Given the description of an element on the screen output the (x, y) to click on. 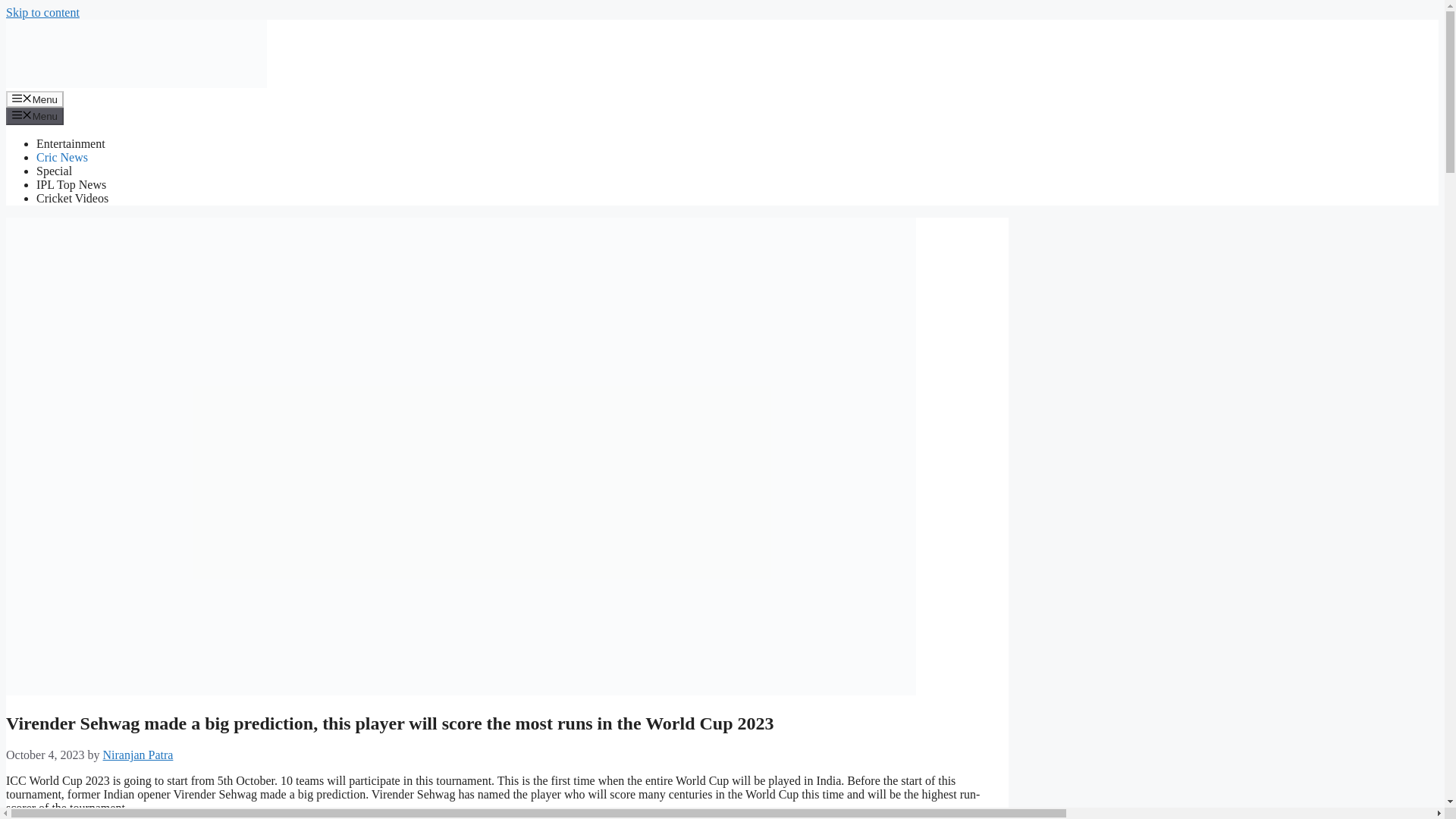
Entertainment (70, 143)
Skip to content (42, 11)
Cric News (61, 156)
Niranjan Patra (138, 754)
Menu (34, 98)
IPL Top News (71, 184)
Special (53, 170)
View all posts by Niranjan Patra (138, 754)
Menu (34, 115)
Cricket Videos (71, 197)
